Given the description of an element on the screen output the (x, y) to click on. 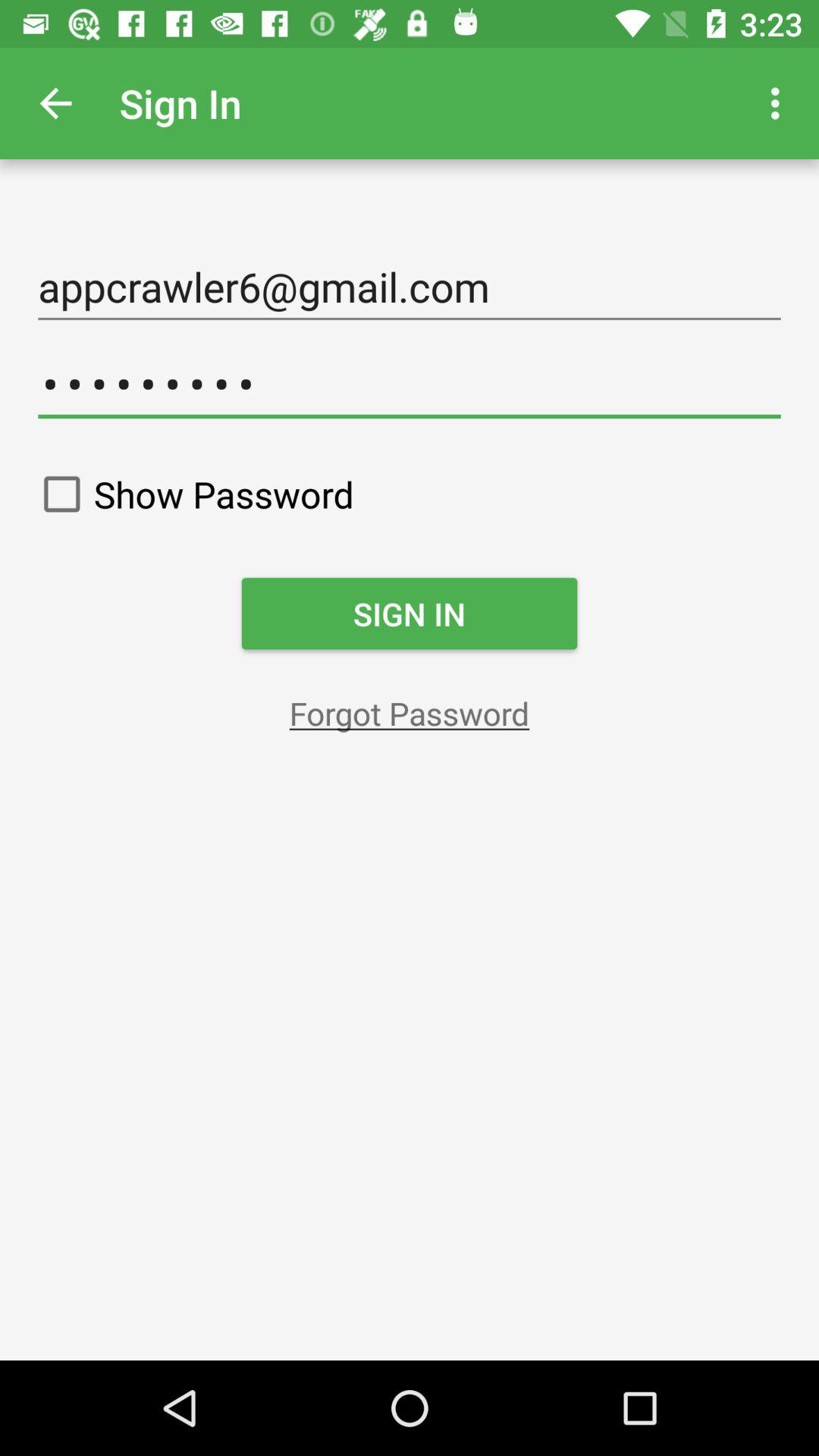
select app next to sign in app (55, 103)
